Given the description of an element on the screen output the (x, y) to click on. 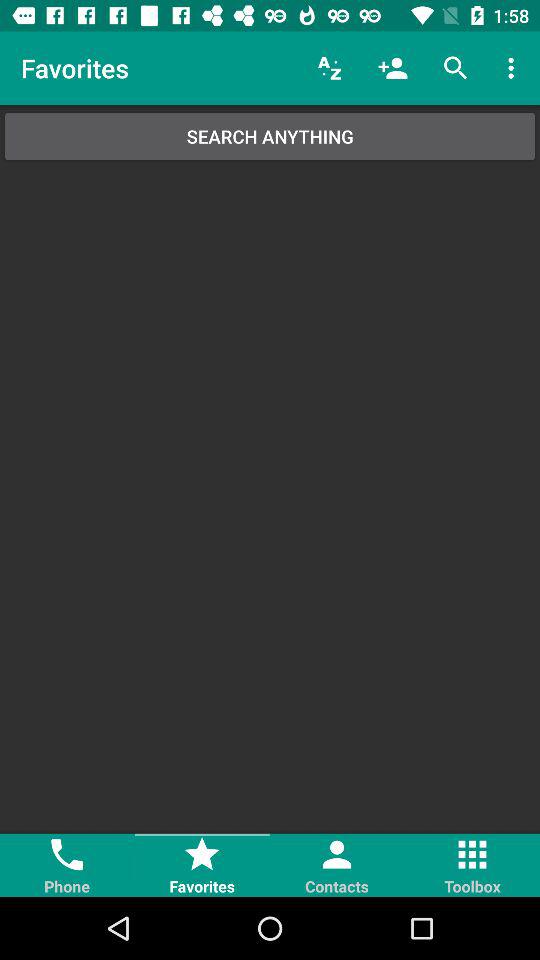
select item to the right of the favorites item (329, 67)
